Given the description of an element on the screen output the (x, y) to click on. 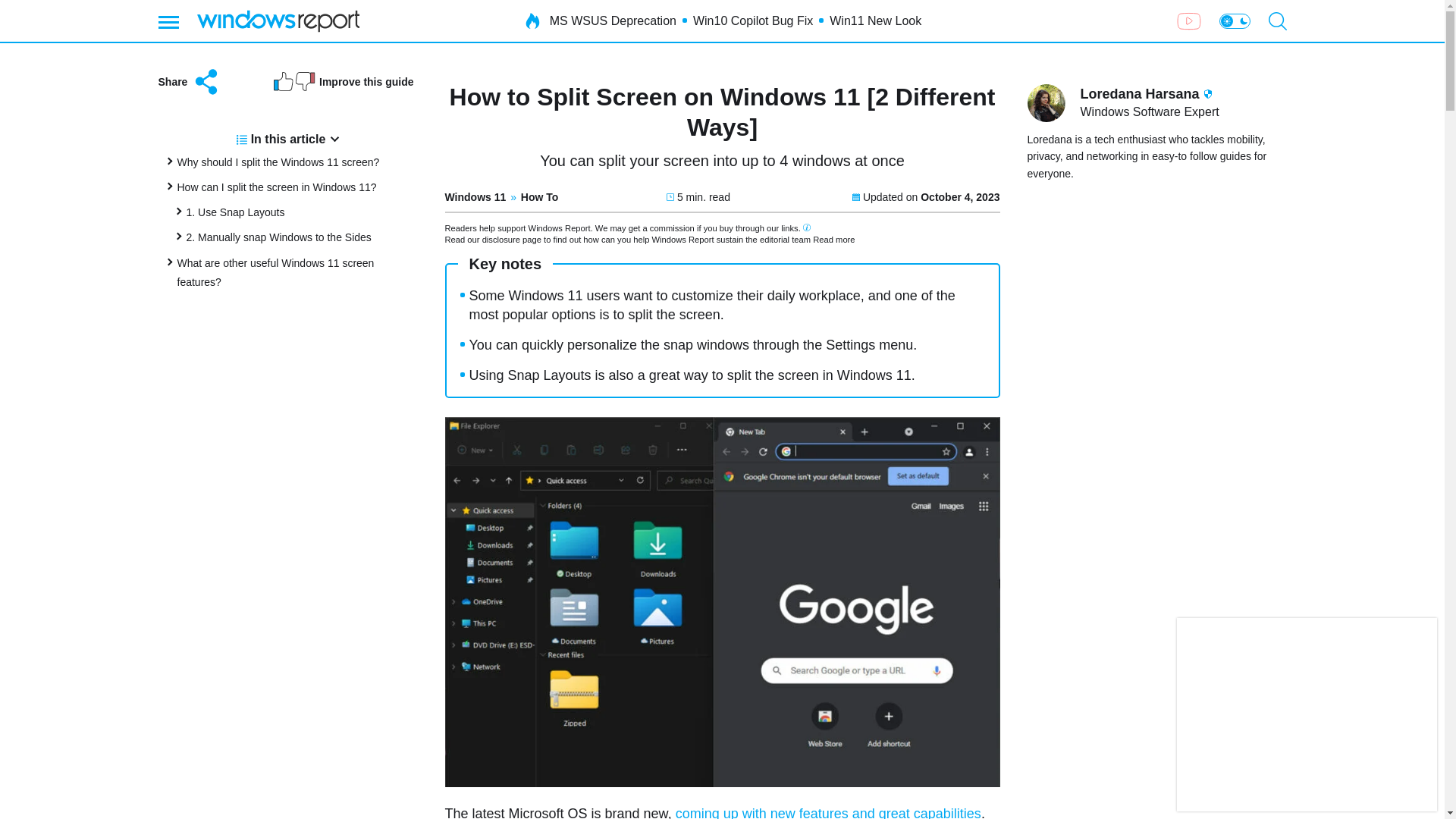
offer (1306, 714)
Why should I split the Windows 11 screen? (278, 162)
Win10 Copilot Bug Fix (752, 21)
How can I split the screen in Windows 11? (277, 186)
Open search bar (1276, 21)
MS WSUS Deprecation (613, 21)
Share this article (189, 81)
Win11 New Look (875, 21)
Share (189, 81)
1. Use Snap Layouts (235, 212)
